Given the description of an element on the screen output the (x, y) to click on. 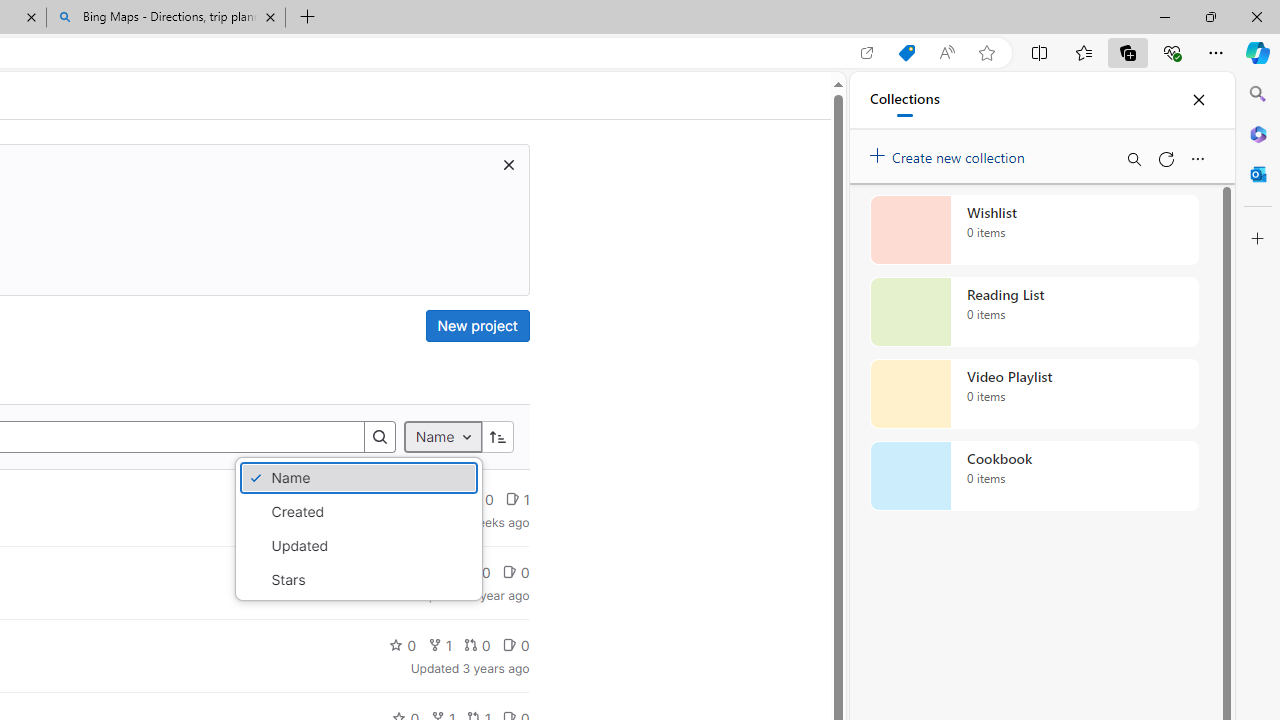
Updated (358, 546)
0 (515, 644)
Stars (358, 579)
